Given the description of an element on the screen output the (x, y) to click on. 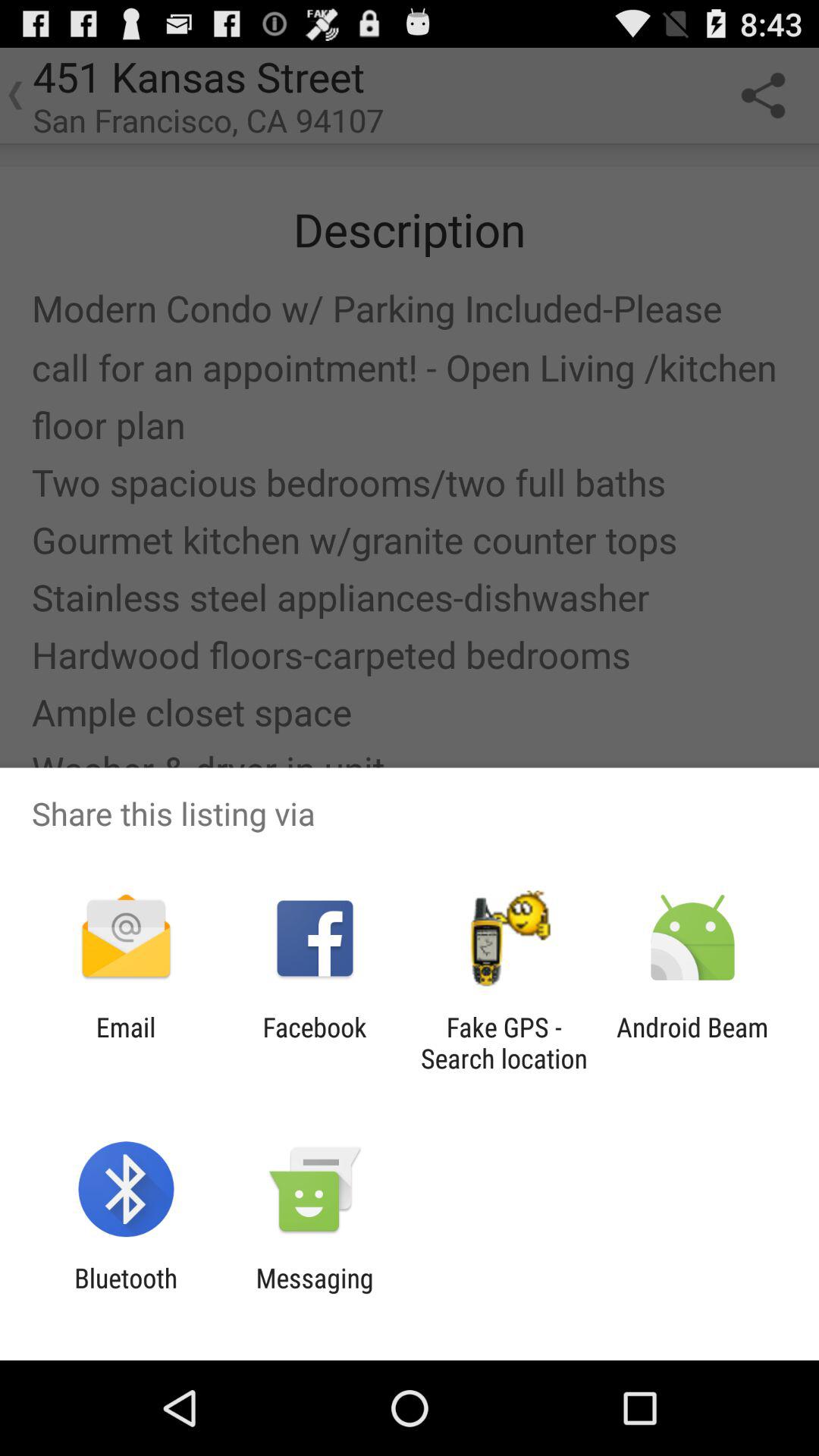
tap the bluetooth (125, 1293)
